Given the description of an element on the screen output the (x, y) to click on. 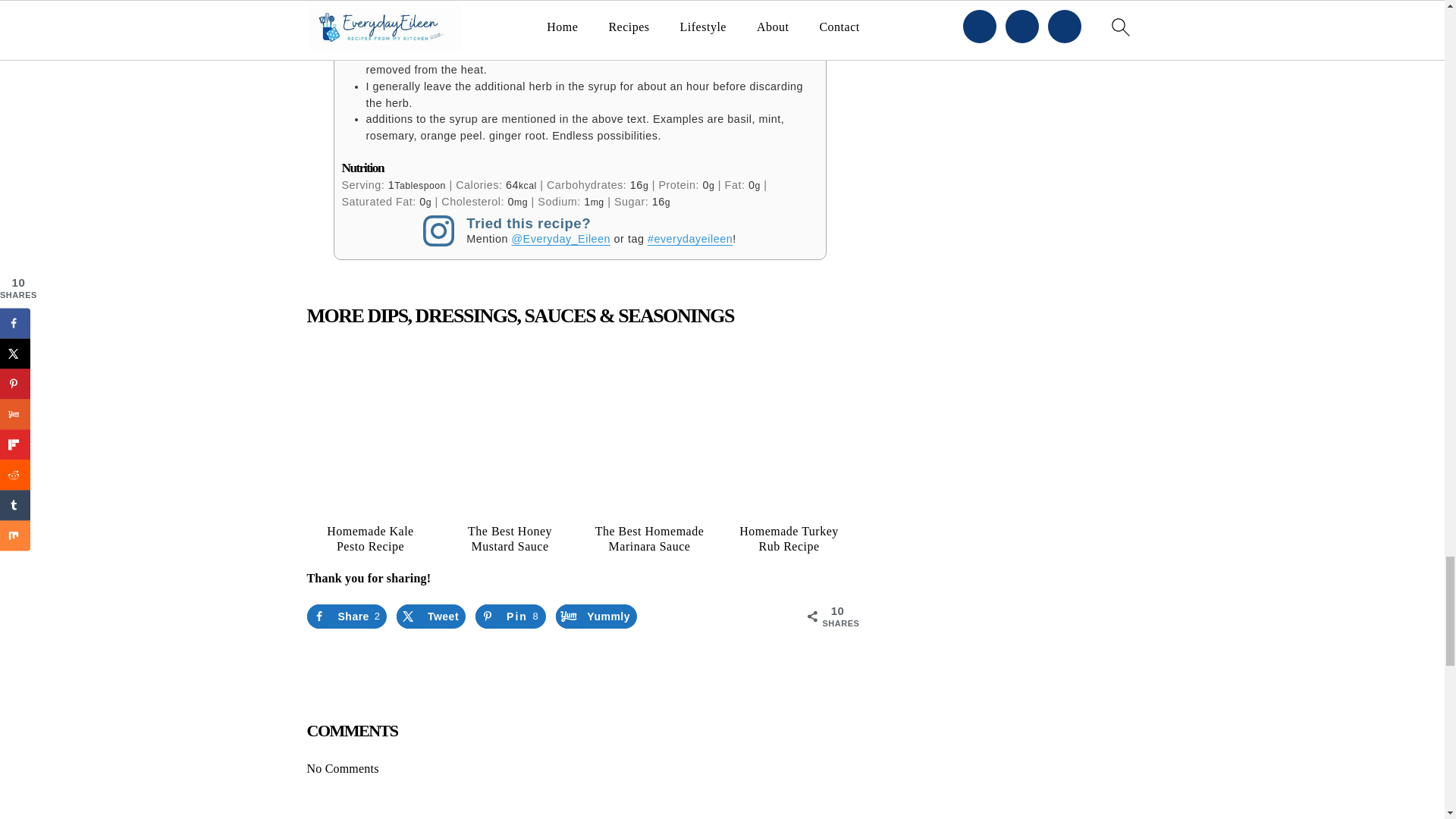
Share on X (430, 616)
Save to Pinterest (511, 616)
Share on Yummly (596, 616)
Share on Facebook (345, 616)
